Given the description of an element on the screen output the (x, y) to click on. 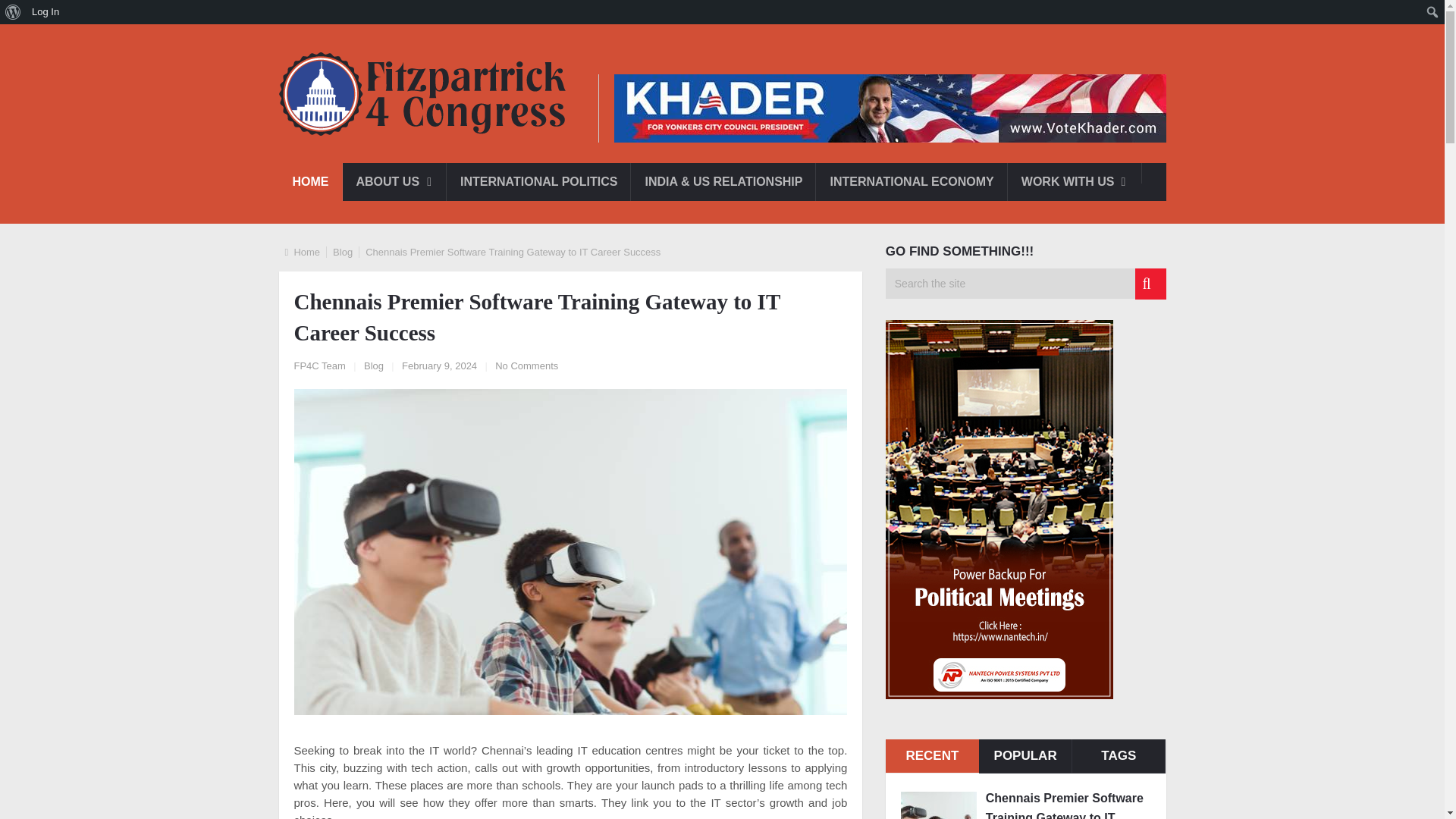
INTERNATIONAL POLITICS (538, 181)
Home (307, 251)
FP4C Team (320, 365)
INTERNATIONAL ECONOMY (911, 181)
No Comments (526, 365)
View all posts in Blog (374, 365)
Posts by FP4C Team (320, 365)
WORK WITH US (1074, 181)
Blog (342, 251)
Blog (374, 365)
